Given the description of an element on the screen output the (x, y) to click on. 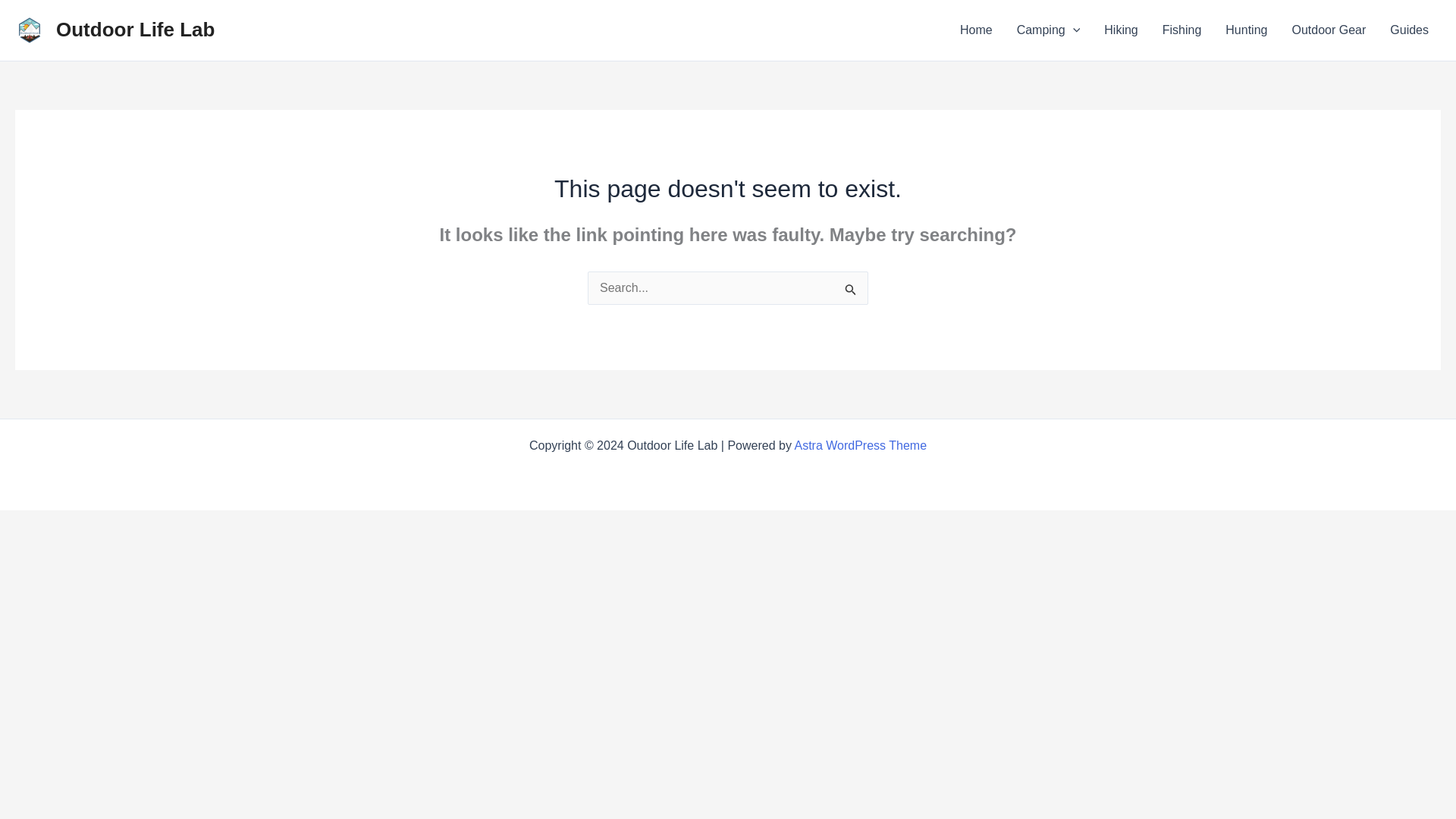
Guides (1409, 30)
Fishing (1182, 30)
Outdoor Gear (1328, 30)
Camping (1048, 30)
Outdoor Life Lab (135, 29)
Hunting (1245, 30)
Hiking (1121, 30)
Astra WordPress Theme (859, 445)
Home (975, 30)
